Given the description of an element on the screen output the (x, y) to click on. 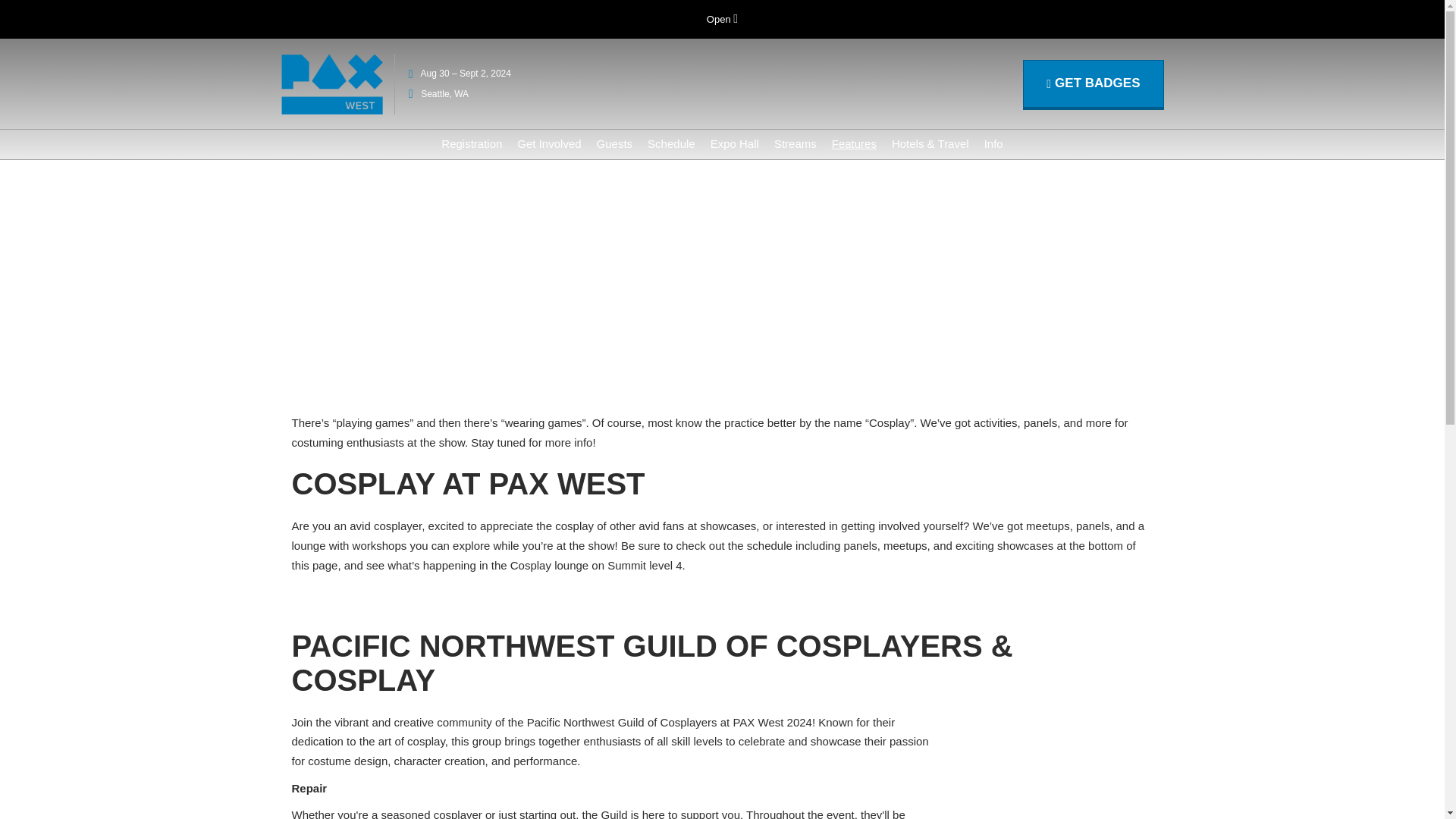
Info (993, 143)
Expo Hall (734, 143)
Open (722, 19)
GET BADGES (1093, 83)
Guests (614, 143)
Schedule (671, 143)
Streams (795, 143)
Features (853, 143)
Get Involved (548, 143)
Registration (471, 143)
